Given the description of an element on the screen output the (x, y) to click on. 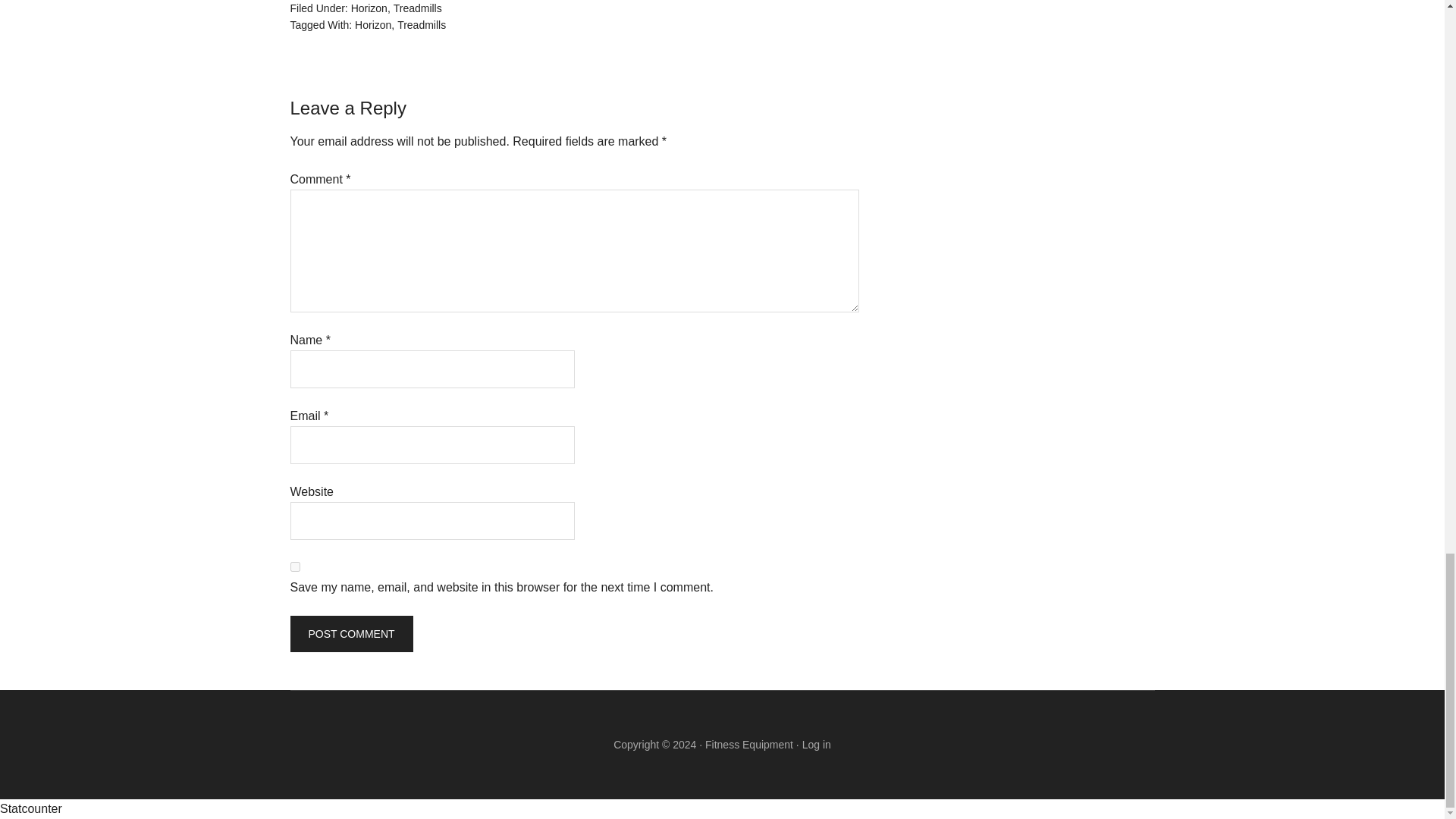
Horizon (373, 24)
Post Comment (350, 633)
Treadmills (417, 8)
yes (294, 566)
Horizon (368, 8)
Treadmills (421, 24)
Post Comment (350, 633)
